Given the description of an element on the screen output the (x, y) to click on. 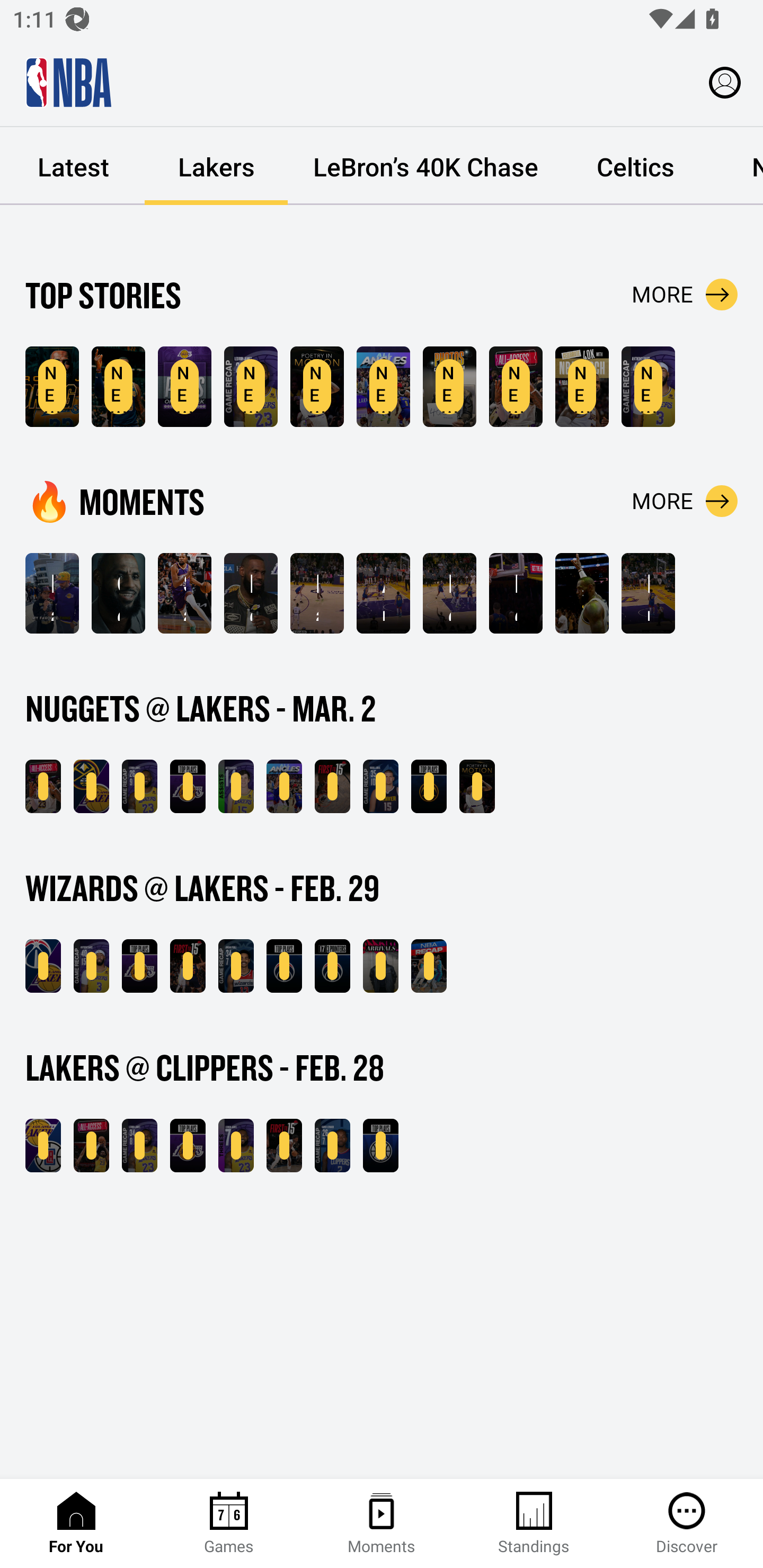
Profile (724, 81)
Latest (72, 166)
LeBron’s 40K Chase (425, 166)
Celtics (634, 166)
MORE (684, 294)
NEW LeBron Tracker: Lakers star reaches 40,000 (51, 386)
NEW Milestone Baskets From LeBron's Career (117, 386)
NEW LAL's Top Plays of Week 19 (184, 386)
NEW Highlights From LeBron James' 26-Point Game (250, 386)
NEW LeBron's Historic Night In Slo-Mo 🎥 (317, 386)
All Angles Of LeBron's Historic Shot 👀 NEW (383, 386)
Scenes From LeBron's 40K Night 📸 NEW (449, 386)
Inside LeBron's 40K Milestone On ABC 🎥 NEW (515, 386)
Shop LeBron Merch Now 👑🛒 NEW (581, 386)
Highlights From Anthony Davis' 40-Point Game NEW (648, 386)
MORE (684, 500)
Saturday's Top Plays In 30 Seconds ⏱ (184, 593)
Radio Call Of The Lebron Bucket For 40K 📻 (317, 593)
Austin Reaves with the assist (383, 593)
LeBron James hits from way downtown (449, 593)
LeBron James with the hoop & harm (515, 593)
👏👑🙌 (581, 593)
Dunk by Jaxson Hayes (648, 593)
NEW Inside LeBron's 40K Milestone On ABC 🎥 (43, 785)
NEW DEN 124, LAL 114 - Mar 2 (91, 785)
NEW Highlights From LeBron James' 26-Point Game (139, 785)
NEW LAL's Top Plays from DEN vs. LAL (187, 785)
NEW Highlights From Austin Reaves' 14-Assist Game (236, 785)
All Angles Of LeBron's Historic Shot 👀 NEW (284, 785)
First To 15 Mar. 2nd NEW (332, 785)
Highlights From Nikola Jokic's 35-Point Game NEW (380, 785)
DEN's Top Plays from DEN vs. LAL NEW (428, 785)
LeBron's Historic Night In Slo-Mo 🎥 NEW (477, 785)
NEW LAL 134, WAS 131 - Feb 29 (43, 965)
NEW Highlights From Anthony Davis' 40-Point Game (91, 965)
NEW LAL's Top Plays from WAS vs. LAL (139, 965)
NEW First To 15: Feb. 29th (187, 965)
NEW Highlights From Jordan Poole's 34-Point Game (236, 965)
WAS' Top Plays from WAS vs. LAL NEW (284, 965)
All 3's from WAS' 17 3-Pointer Night NEW (332, 965)
Thursday Night's Arrivals 🔥 NEW (380, 965)
Thursday's Recap NEW (428, 965)
NEW LAL 116, LAC 112 - Feb 28 (43, 1145)
NEW LeBron Takes Over In The Battle Of LA (91, 1145)
NEW Highlights From LeBron James's 34-Point Game (139, 1145)
NEW LAL's Top Plays from LAL vs. LAC (187, 1145)
First To 15: Feb. 28th NEW (284, 1145)
Highlights From Kawhi Leonard's 26-Point Game NEW (332, 1145)
LAC's Top Plays from LAL vs. LAC NEW (380, 1145)
Games (228, 1523)
Moments (381, 1523)
Standings (533, 1523)
Discover (686, 1523)
